Given the description of an element on the screen output the (x, y) to click on. 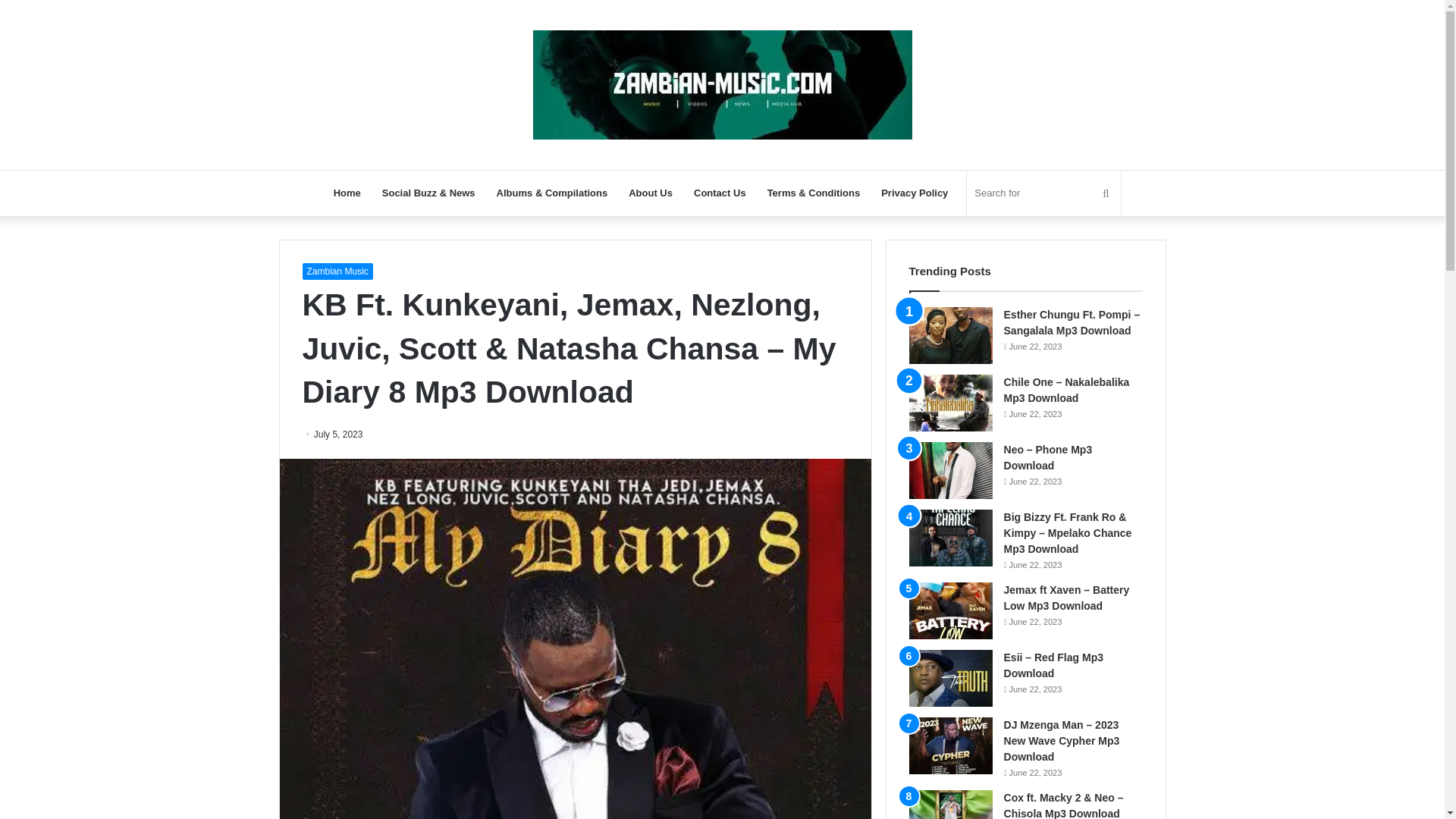
Search for (1043, 193)
Home (347, 193)
Zambian Music (336, 271)
Contact Us (719, 193)
Download Latest Zambian Music 2023 Mp3 Download (721, 84)
Privacy Policy (914, 193)
About Us (649, 193)
